Given the description of an element on the screen output the (x, y) to click on. 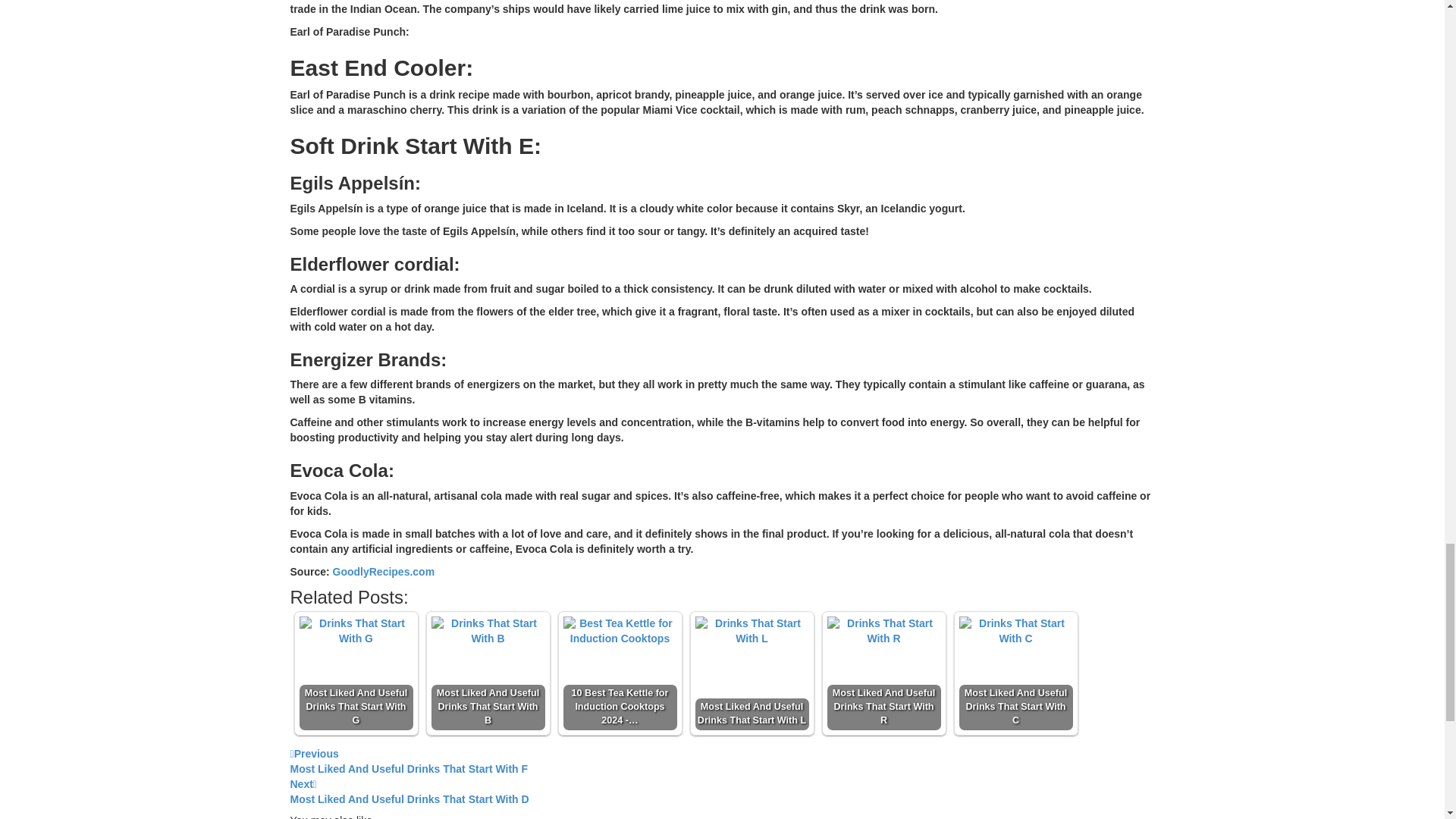
Most Liked And Useful Drinks That Start With C (1014, 631)
Most Liked And Useful Drinks That Start With G (355, 631)
Most Liked And Useful Drinks That Start With R (883, 631)
Most Liked And Useful Drinks That Start With C (1014, 673)
Most Liked And Useful Drinks That Start With G (355, 673)
Most Liked And Useful Drinks That Start With B (487, 673)
Most Liked And Useful Drinks That Start With R (721, 761)
Most Liked And Useful Drinks That Start With B (883, 673)
GoodlyRecipes.com (487, 631)
Most Liked And Useful Drinks That Start With L (384, 571)
Most Liked And Useful Drinks That Start With L (751, 631)
